Given the description of an element on the screen output the (x, y) to click on. 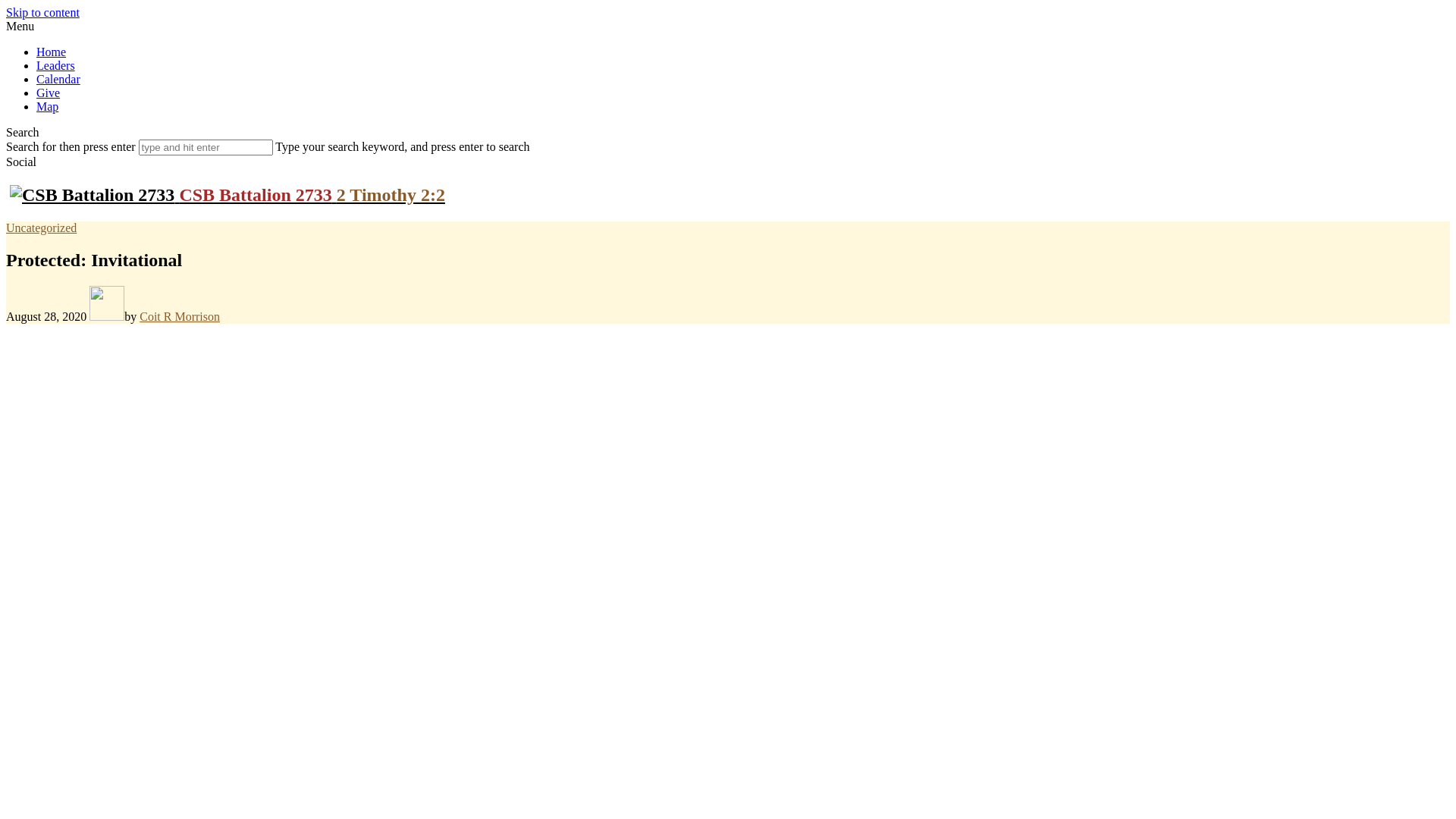
Home Element type: text (50, 51)
Social Element type: text (21, 161)
Menu Element type: text (20, 25)
Uncategorized Element type: text (41, 227)
Map Element type: text (47, 106)
Search for: Element type: hover (205, 147)
Give Element type: text (47, 92)
Calendar Element type: text (58, 78)
Leaders Element type: text (55, 65)
Coit R Morrison Element type: text (179, 316)
Search Element type: text (22, 131)
CSB Battalion 2733 2 Timothy 2:2 Element type: text (227, 194)
Skip to content Element type: text (42, 12)
